Given the description of an element on the screen output the (x, y) to click on. 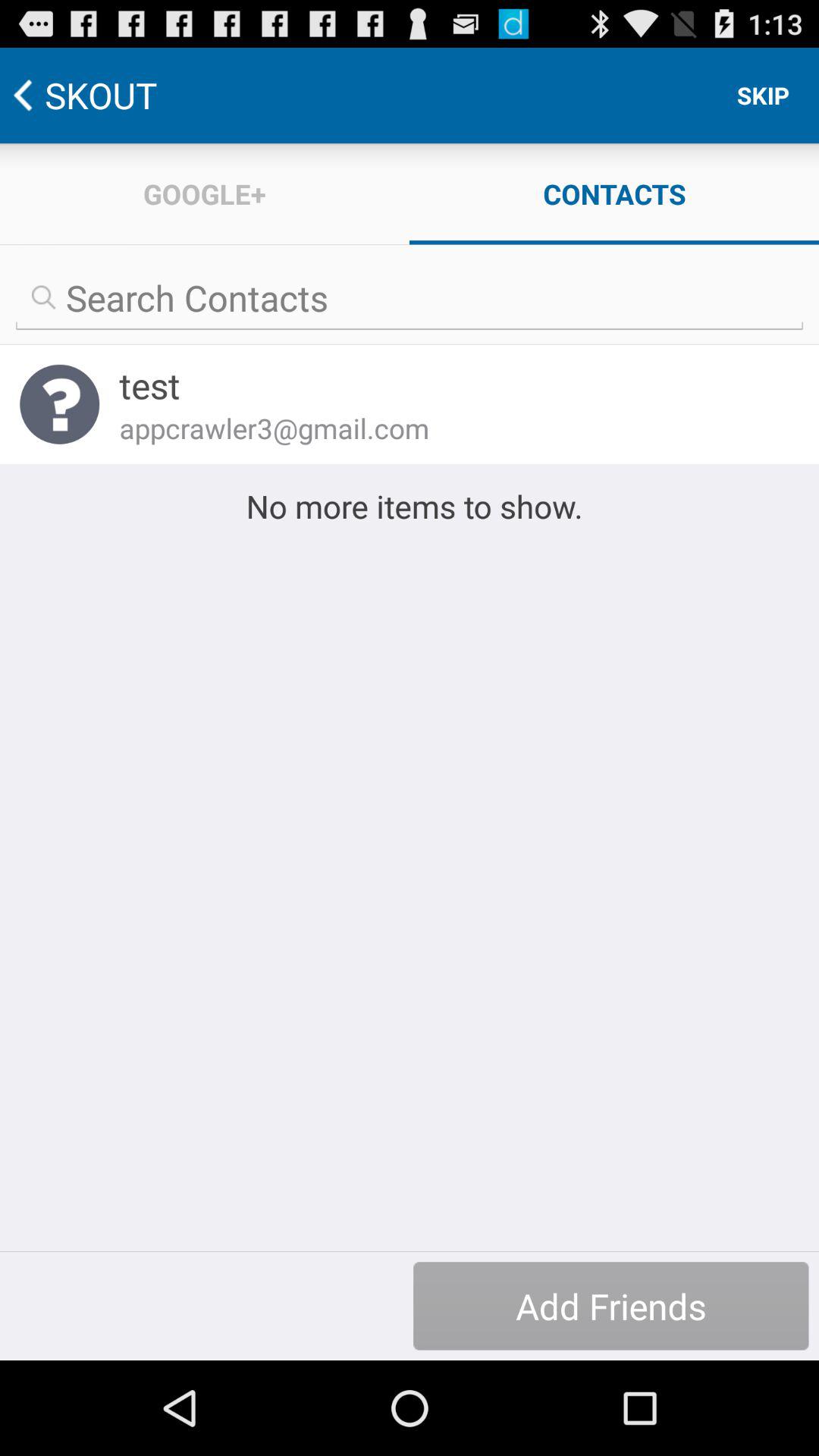
select no more items at the center (409, 505)
